Given the description of an element on the screen output the (x, y) to click on. 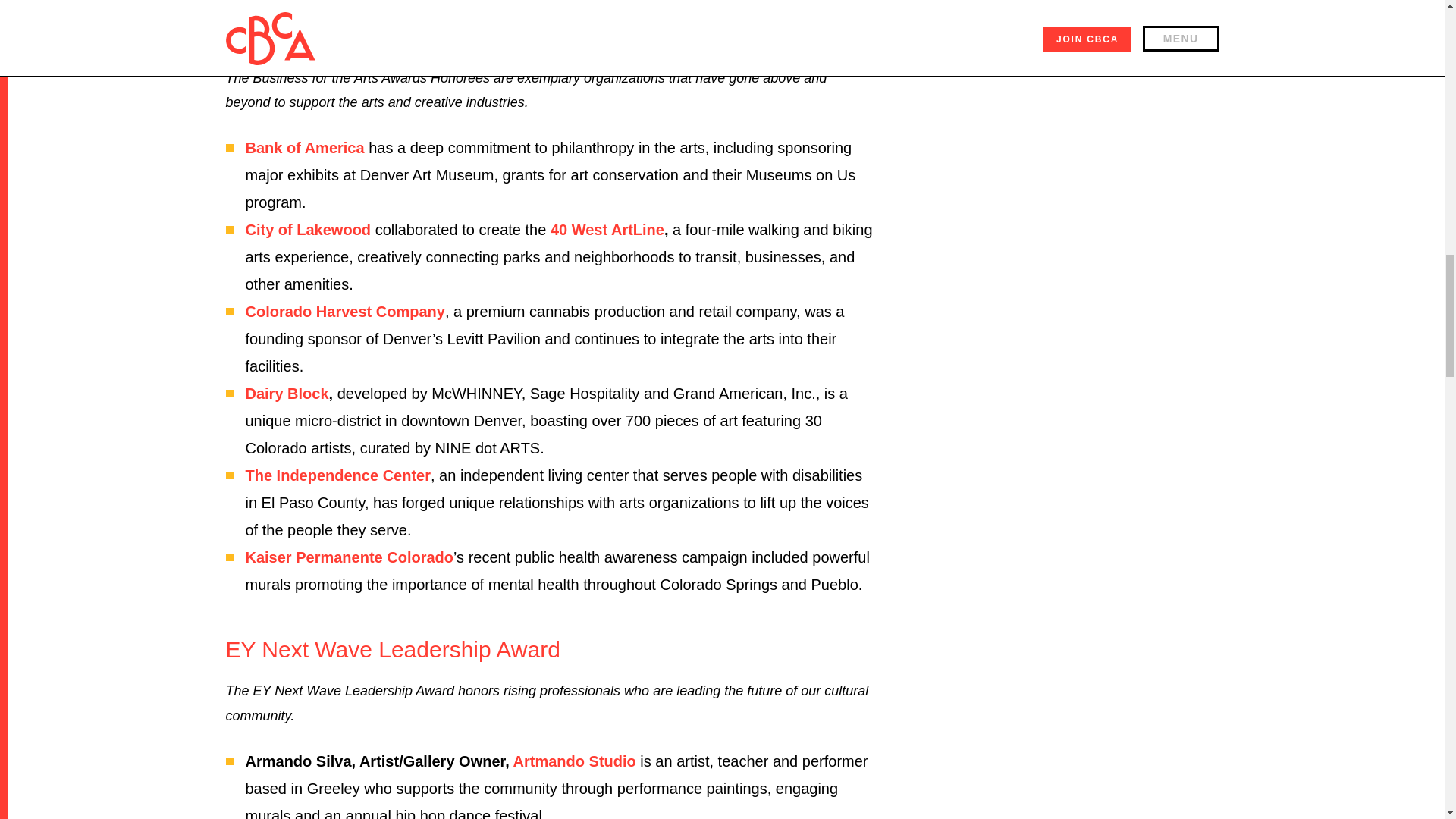
Bank of America (305, 147)
Colorado Harvest Company (345, 311)
40 West ArtLine (606, 229)
City of Lakewood (308, 229)
The Independence Center (338, 475)
Artmando Studio (574, 760)
Dairy Block (287, 393)
Kaiser Permanente Colorado (350, 556)
